Given the description of an element on the screen output the (x, y) to click on. 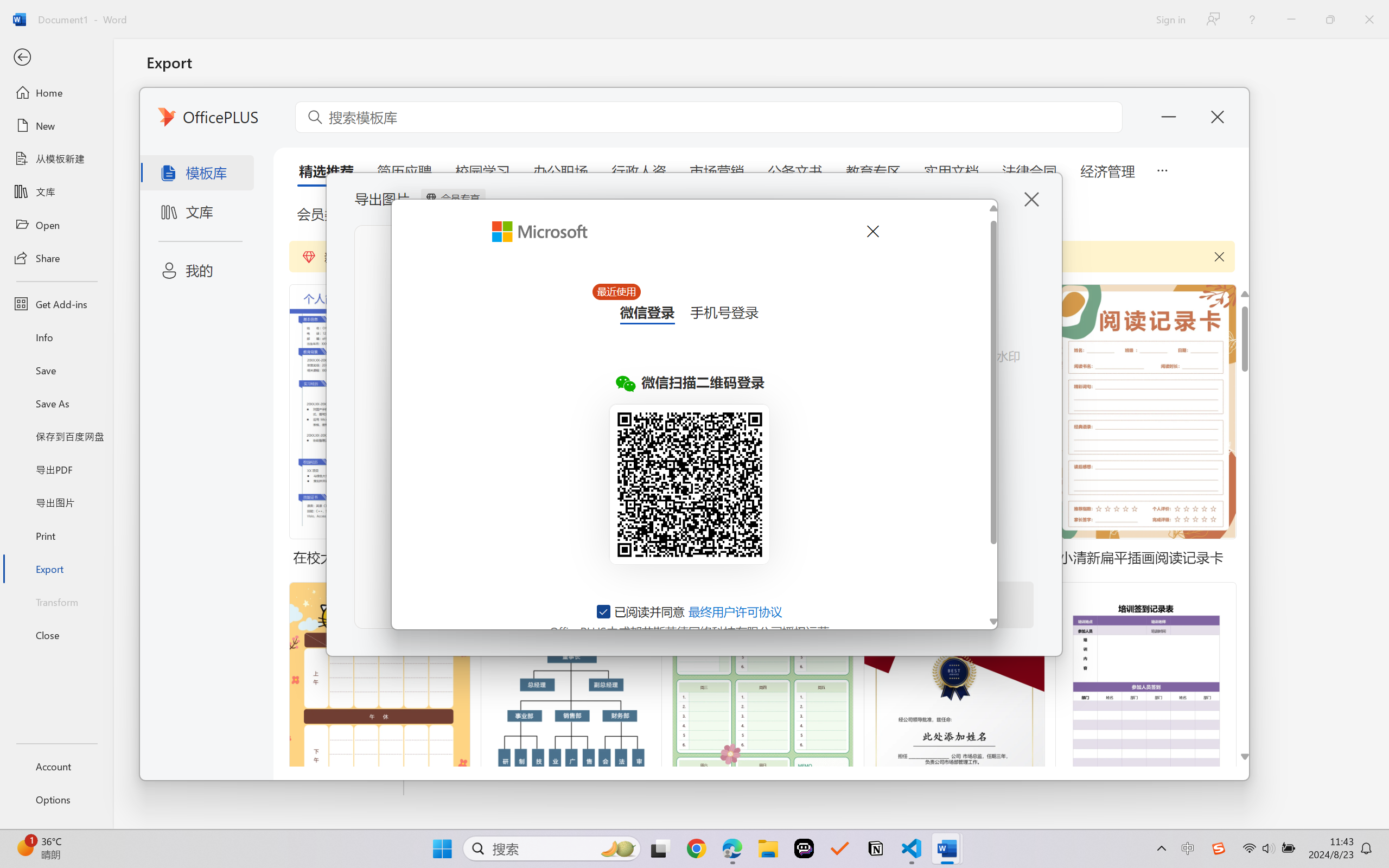
Account (56, 765)
Sign in (1170, 18)
Print (56, 535)
